Given the description of an element on the screen output the (x, y) to click on. 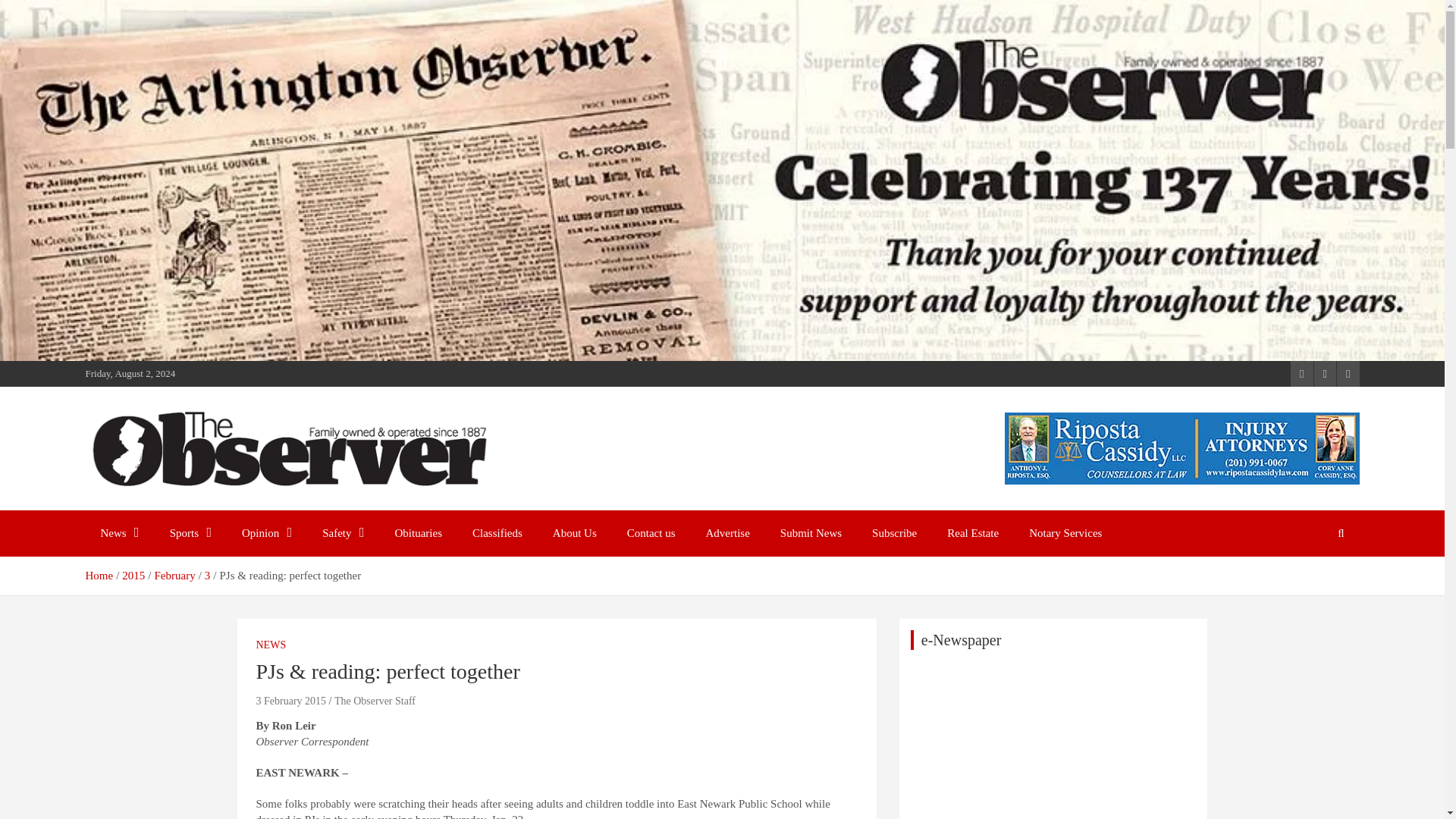
Opinion (267, 533)
Sports (190, 533)
Safety (342, 533)
The Observer Online (212, 506)
Classifieds (497, 533)
Obituaries (418, 533)
About Us (574, 533)
News (119, 533)
